Given the description of an element on the screen output the (x, y) to click on. 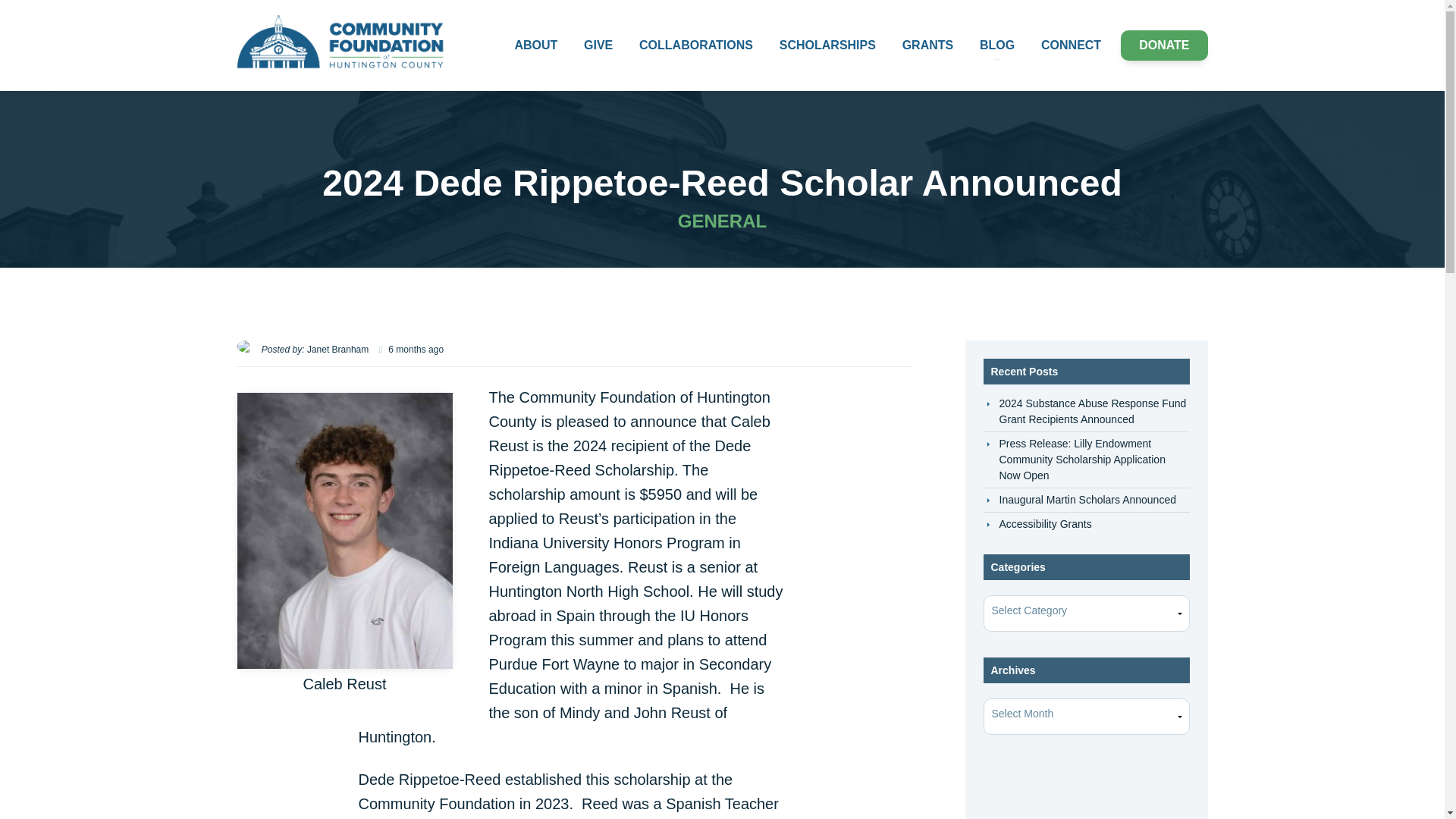
GIVE (598, 45)
Community Foundation of Huntington County (343, 45)
Inaugural Martin Scholars Announced (1087, 499)
COLLABORATIONS (696, 45)
CONNECT (1071, 45)
ABOUT (535, 45)
Accessibility Grants (1045, 523)
Posted by: Janet Branham (315, 348)
DONATE (1164, 45)
GRANTS (927, 45)
SCHOLARSHIPS (827, 45)
BLOG (997, 45)
